Given the description of an element on the screen output the (x, y) to click on. 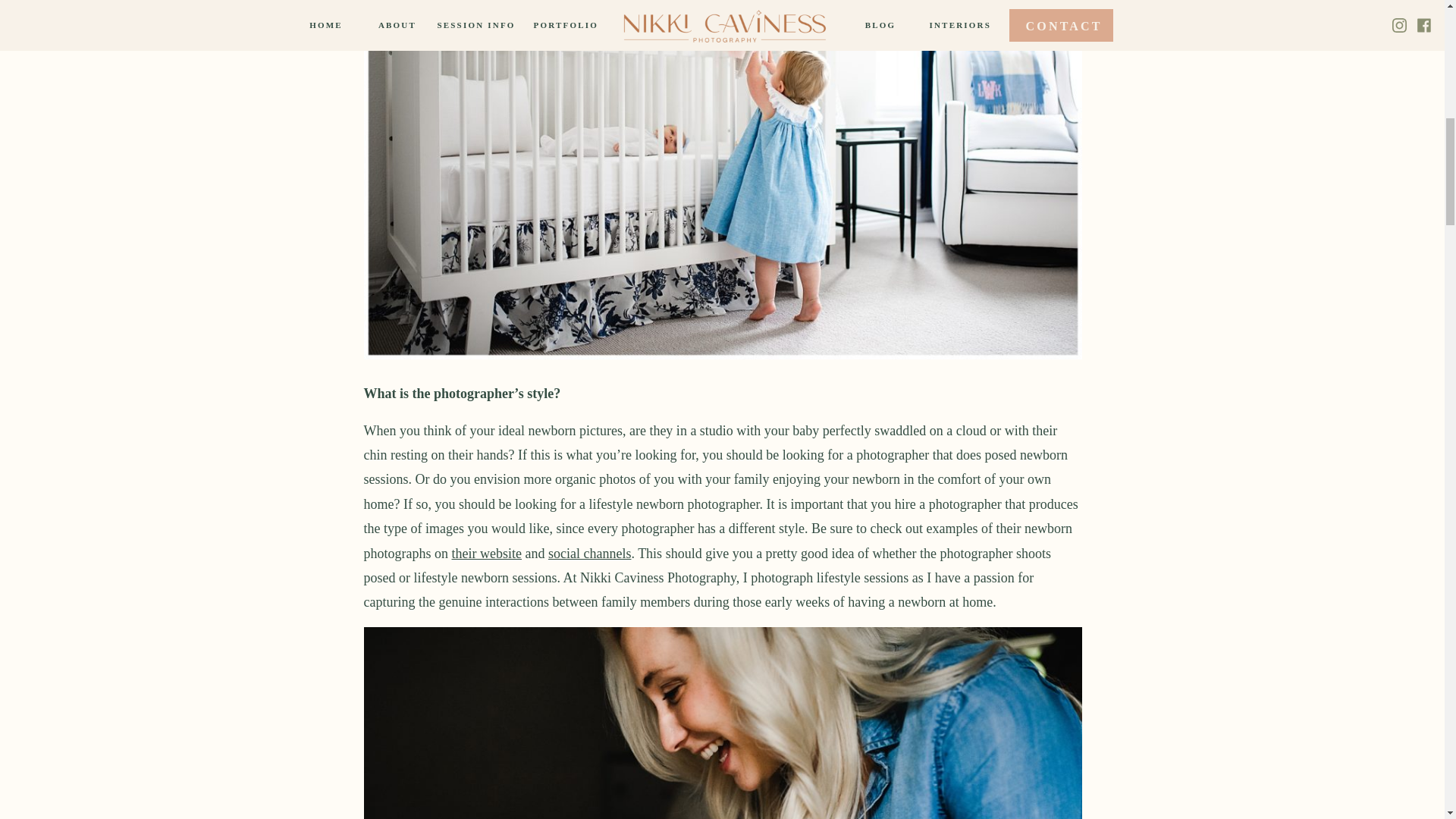
social channels (589, 553)
their website (486, 553)
